Given the description of an element on the screen output the (x, y) to click on. 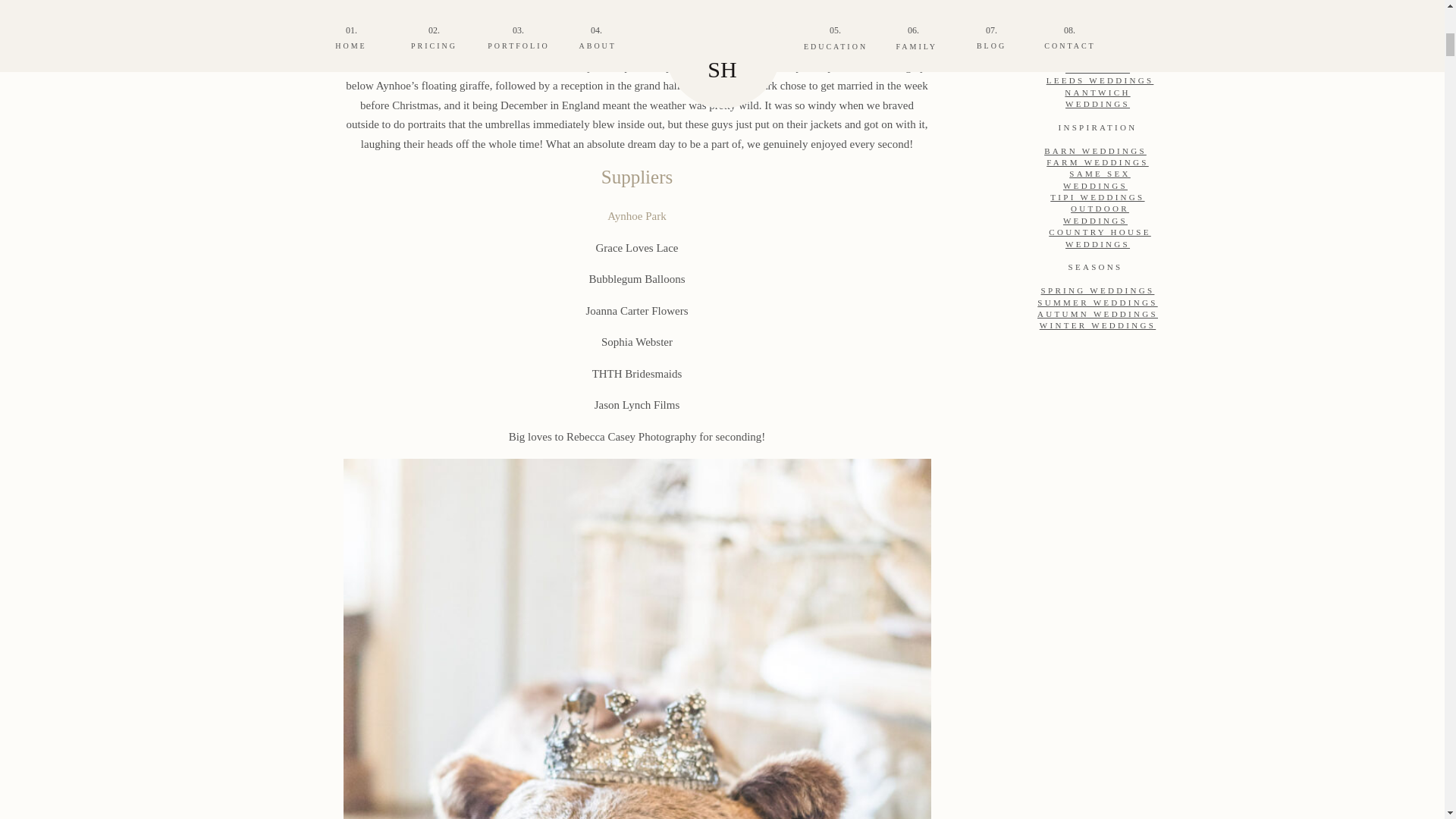
NANTWICH WEDDINGS (1096, 97)
FARM WEDDINGS (1097, 162)
SAME SEX WEDDINGS (1096, 178)
STAFFORDSHIRE WEDDINGS (1100, 62)
BARN WEDDINGS (1095, 149)
WORCESTER WEDDINGS (1097, 39)
TIPI WEDDINGS (1096, 196)
CHESHIRE WEDDING PHOTOGRAPHY (1097, 15)
LEEDS WEDDINGS (1100, 80)
